Given the description of an element on the screen output the (x, y) to click on. 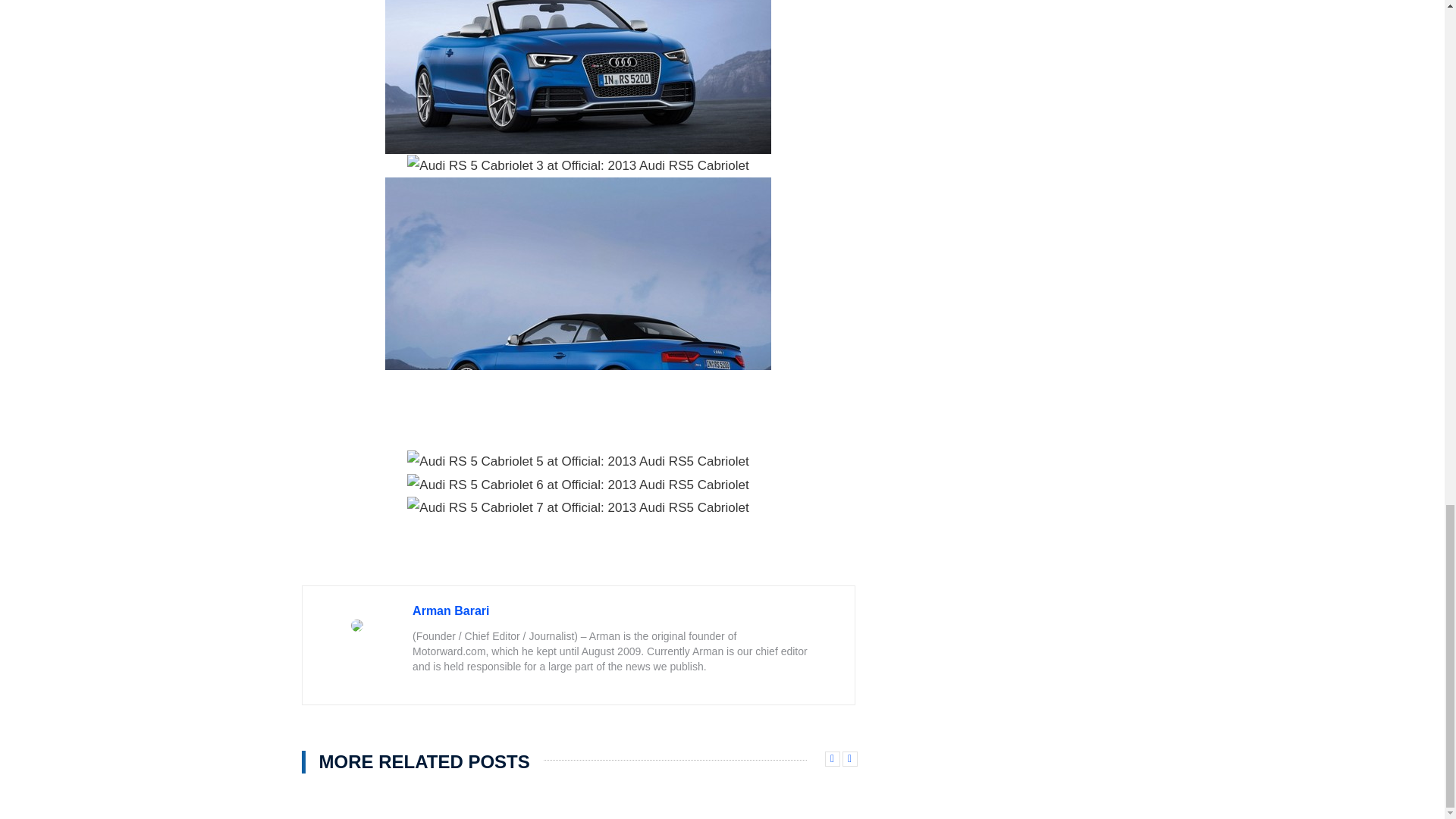
Audi RS 5 Cabriolet 5 (577, 461)
Posts by Arman Barari (450, 610)
Audi RS 5 Cabriolet 6 (577, 485)
Audi RS 5 Cabriolet 2 (578, 76)
Audi RS 5 Cabriolet 7 (577, 507)
Audi RS 5 Cabriolet 4 (578, 313)
Audi RS 5 Cabriolet 3 (577, 165)
